Given the description of an element on the screen output the (x, y) to click on. 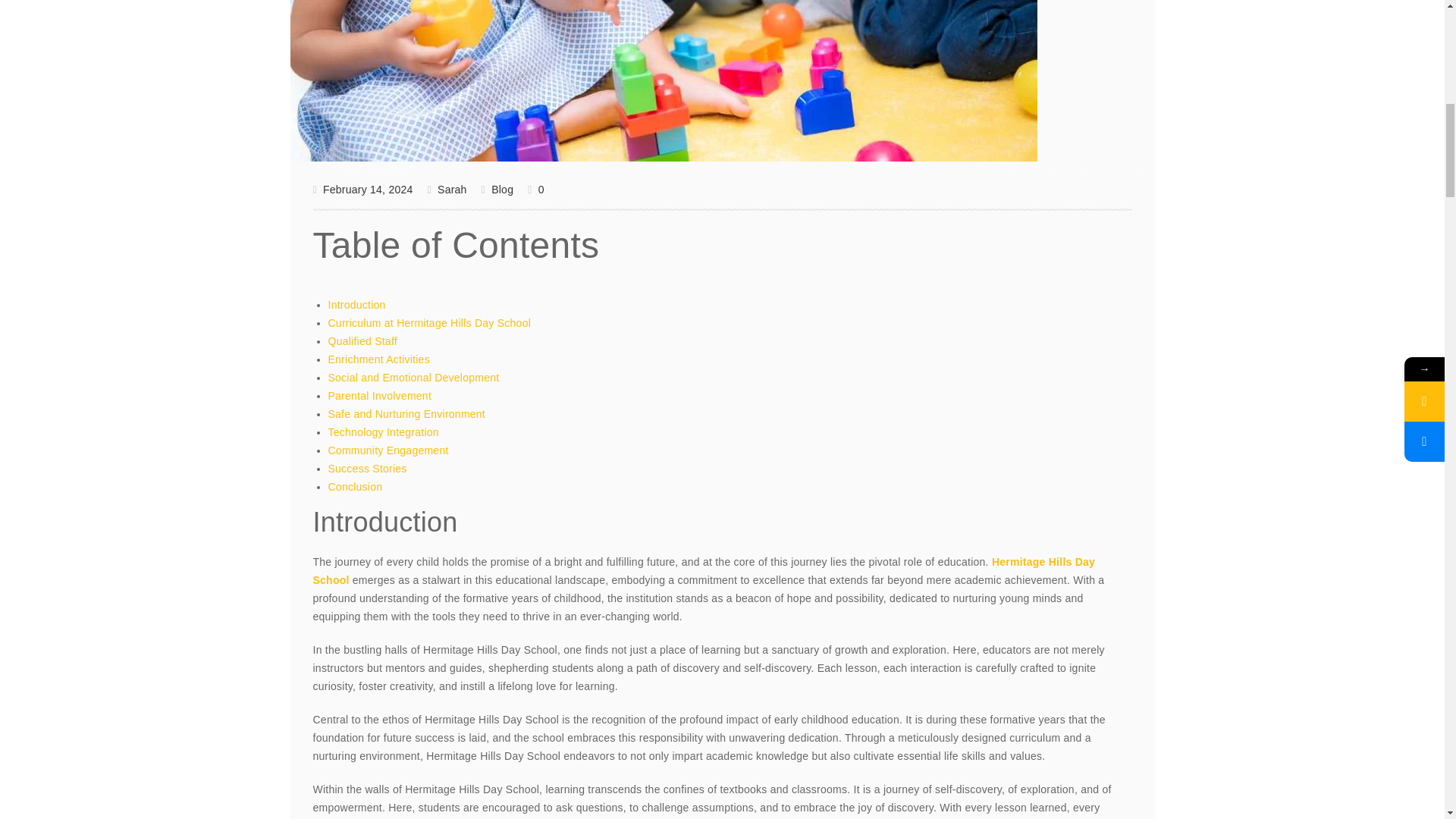
Qualified Staff (361, 340)
Conclusion (354, 486)
Sarah (447, 189)
Enrichment Activities (378, 358)
Blog (502, 189)
Safe and Nurturing Environment (405, 413)
Success Stories (366, 468)
Technology Integration (382, 431)
Curriculum at Hermitage Hills Day School (429, 322)
February 14, 2024 (362, 189)
Hermitage Hills Day School (703, 571)
Introduction (356, 304)
Community Engagement (387, 450)
Parental Involvement (378, 395)
